Given the description of an element on the screen output the (x, y) to click on. 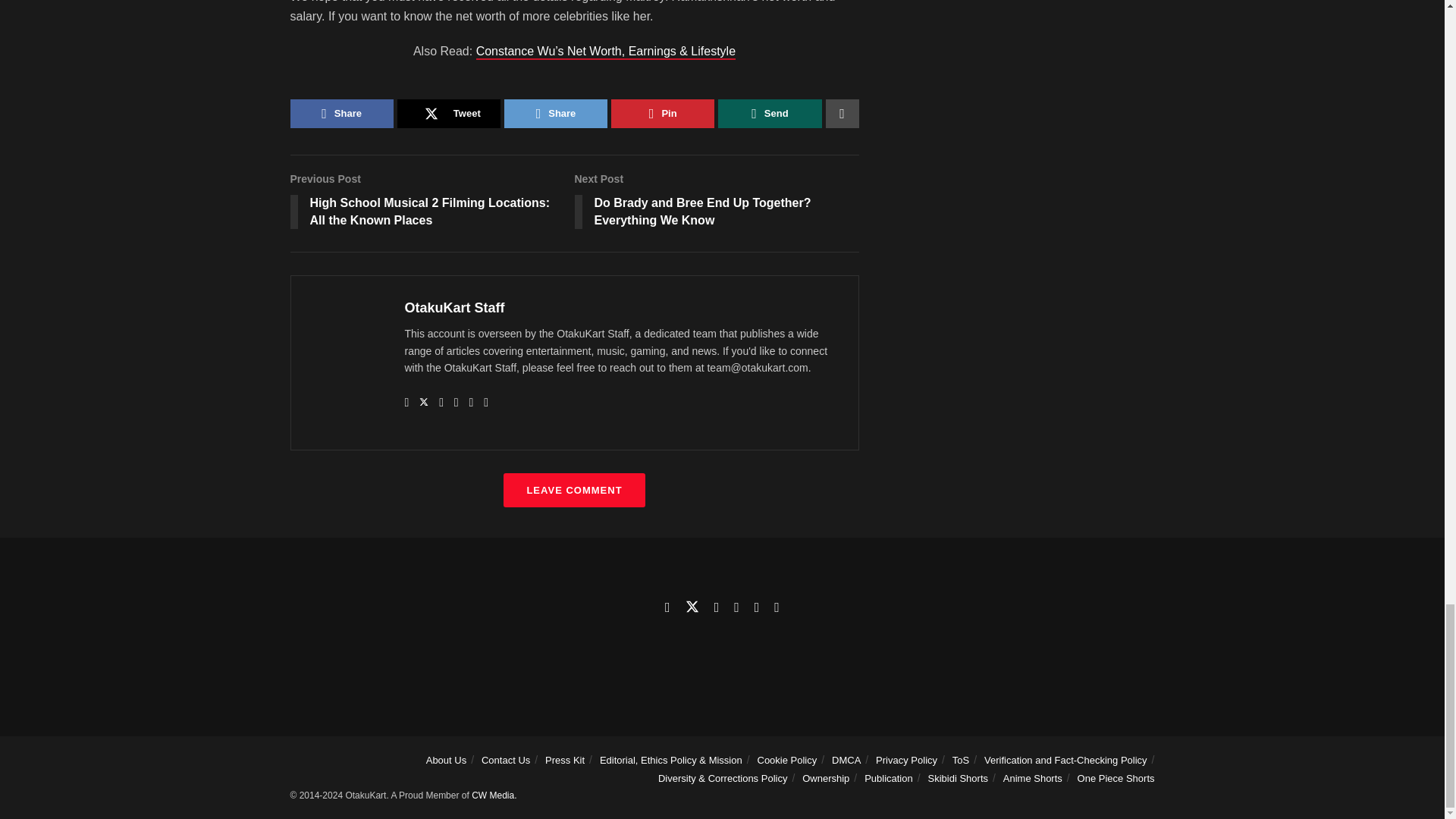
Tweet (448, 113)
Share (555, 113)
OtakuKart Staff (454, 307)
Pin (662, 113)
Send (769, 113)
Share (341, 113)
